Given the description of an element on the screen output the (x, y) to click on. 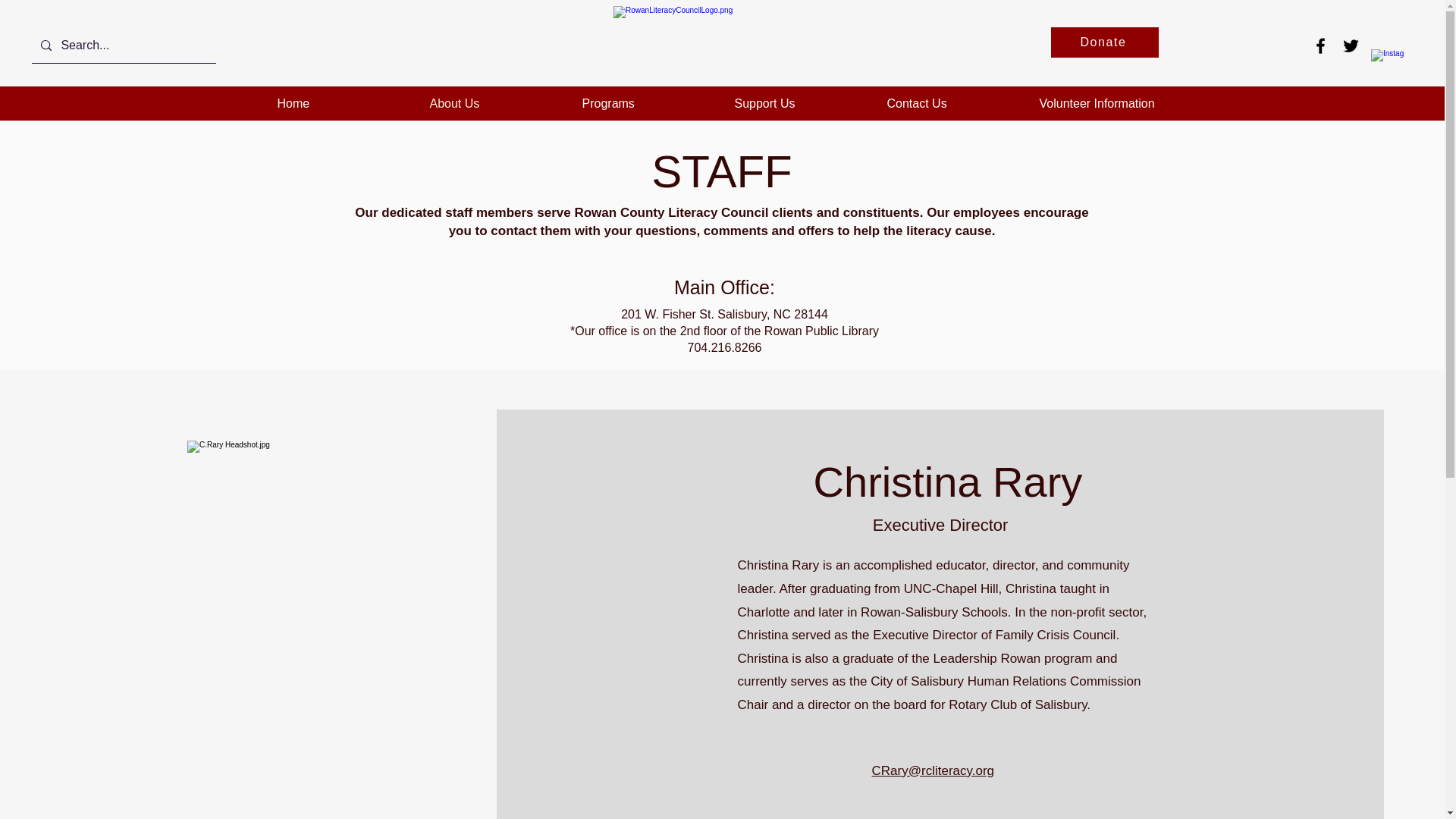
Programs (646, 103)
Home (340, 103)
About Us (494, 103)
Donate (1104, 42)
Volunteer Information (1103, 103)
Contact Us (951, 103)
